Given the description of an element on the screen output the (x, y) to click on. 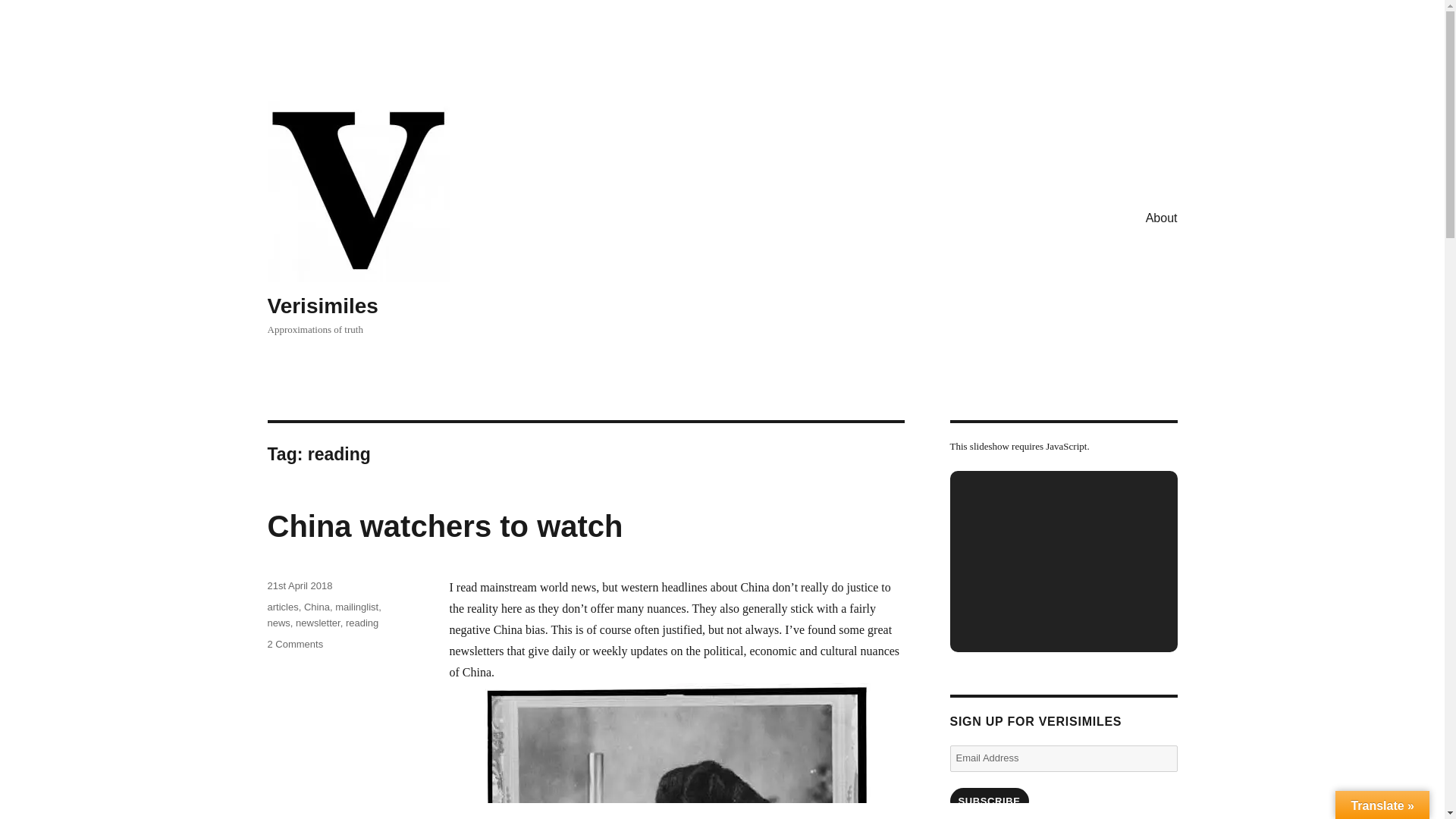
SUBSCRIBE (988, 800)
newsletter (317, 622)
About (1161, 217)
reading (362, 622)
Verisimiles (294, 644)
mailinglist (321, 305)
articles (356, 606)
China (282, 606)
news (317, 606)
21st April 2018 (277, 622)
China watchers to watch (298, 585)
